Given the description of an element on the screen output the (x, y) to click on. 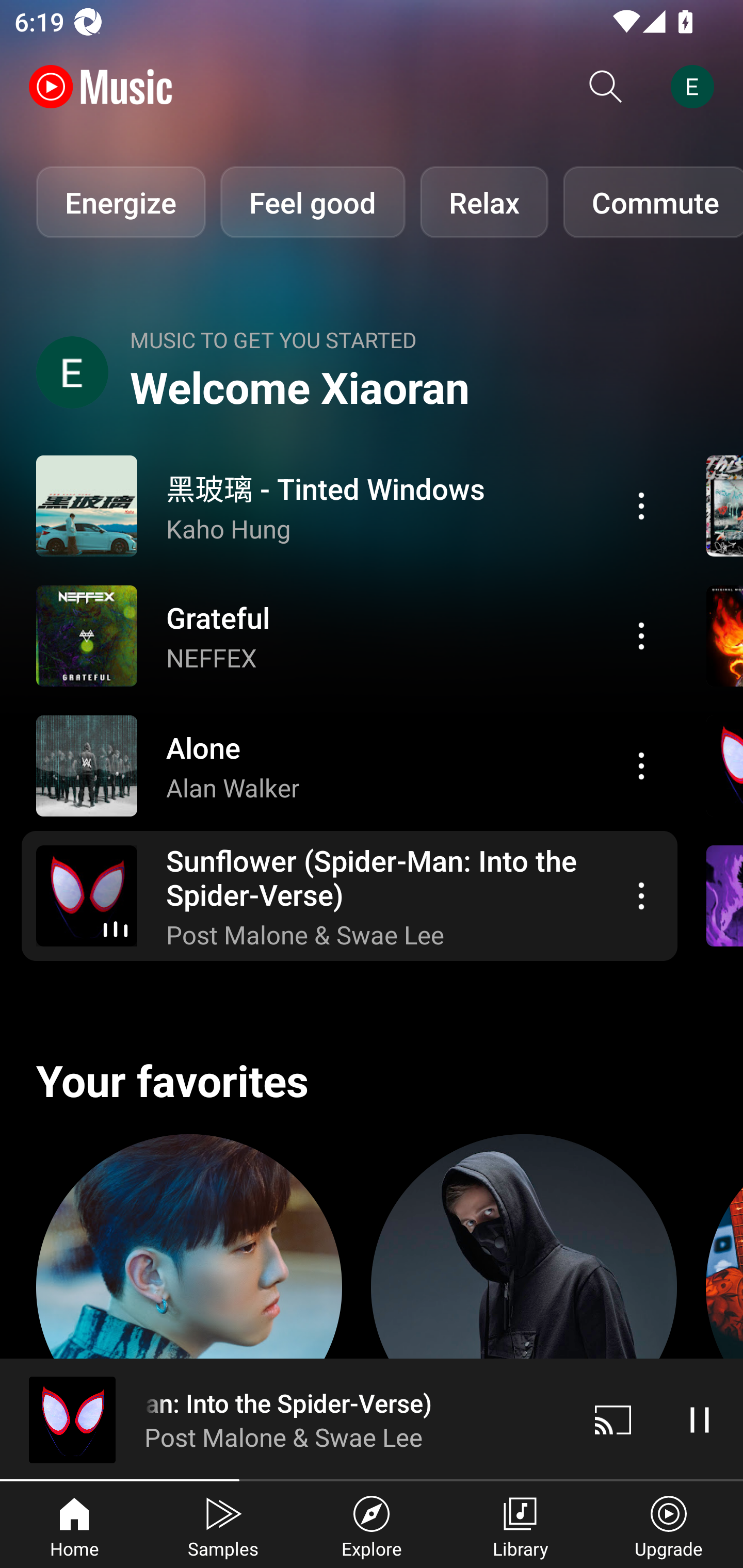
Search (605, 86)
Account (696, 86)
Action menu (349, 505)
Action menu (641, 505)
Action menu (349, 635)
Action menu (641, 635)
Action menu (349, 765)
Action menu (641, 765)
Action menu (349, 896)
Action menu (641, 896)
Cast. Disconnected (612, 1419)
Pause video (699, 1419)
Home (74, 1524)
Samples (222, 1524)
Explore (371, 1524)
Library (519, 1524)
Upgrade (668, 1524)
